Given the description of an element on the screen output the (x, y) to click on. 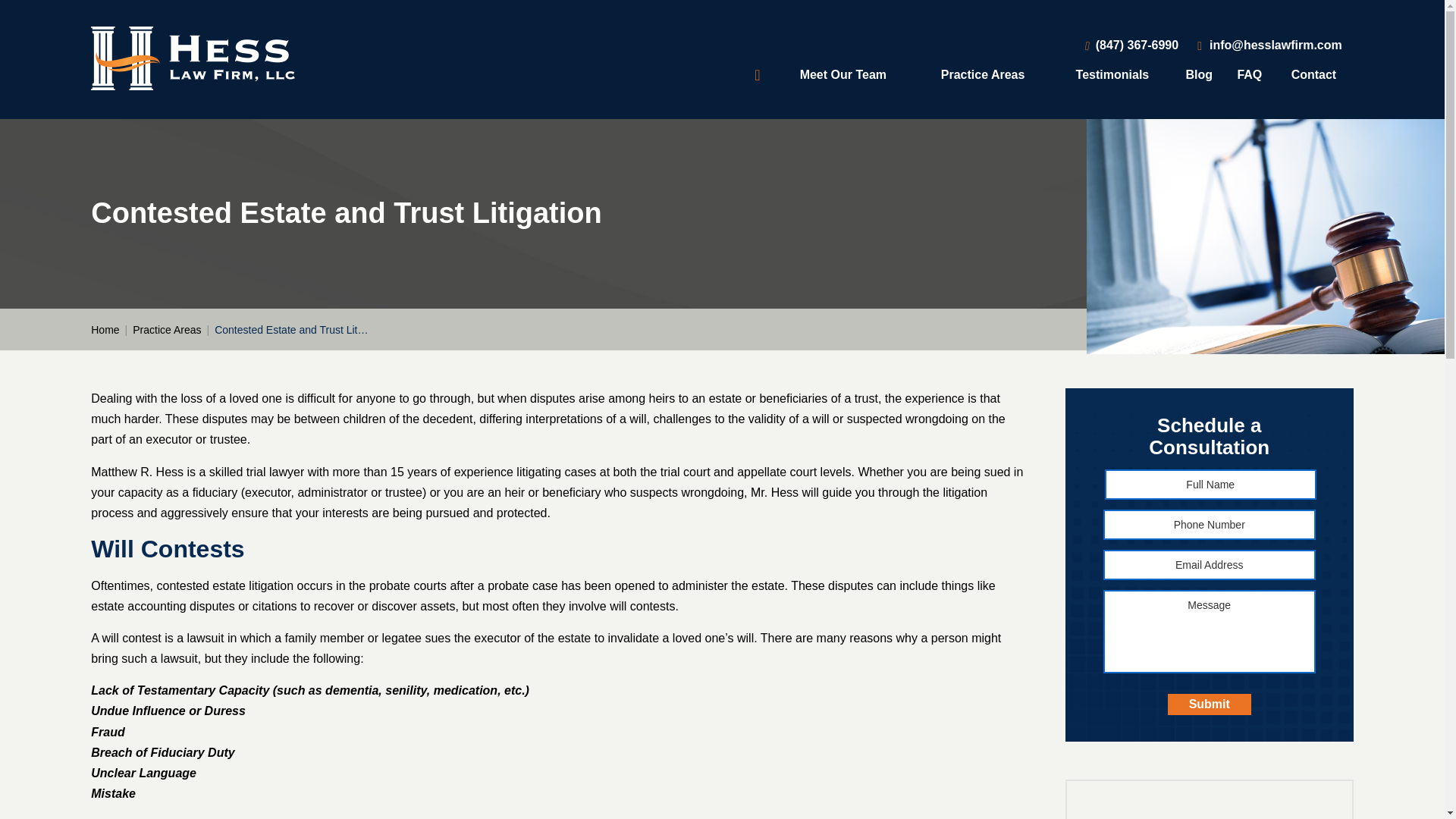
Testimonials (1112, 74)
Email (1269, 44)
Submit (1208, 703)
Meet Our Team (842, 74)
Practice Areas (982, 74)
Home (759, 74)
